Given the description of an element on the screen output the (x, y) to click on. 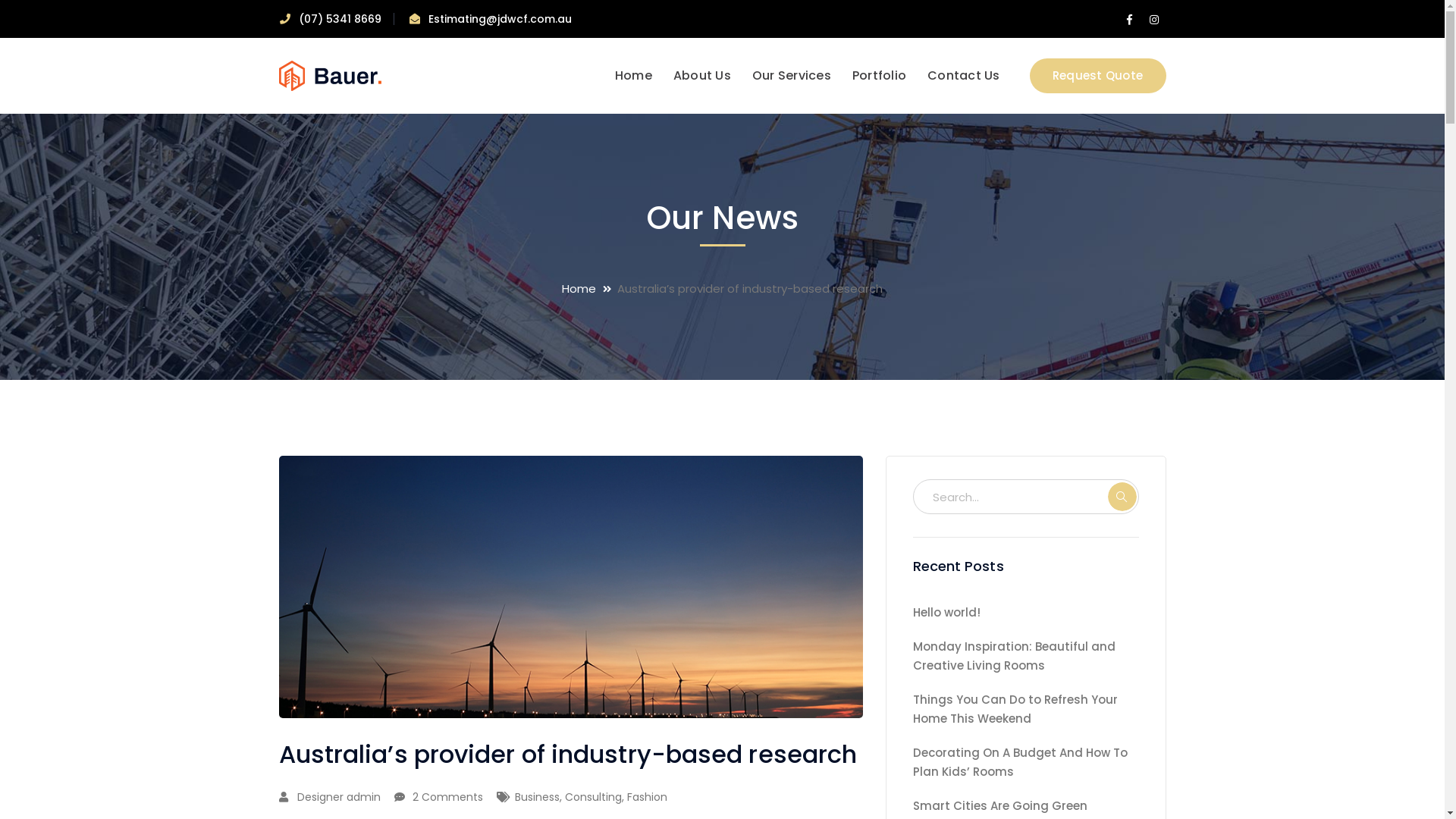
Fashion Element type: text (646, 796)
Search for: Element type: hover (1026, 496)
Hello world! Element type: text (946, 612)
Consulting Element type: text (592, 796)
Contact Us Element type: text (963, 75)
Home Element type: text (589, 288)
Our Services Element type: text (791, 75)
Designer admin Element type: text (338, 796)
Monday Inspiration: Beautiful and Creative Living Rooms Element type: text (1026, 655)
Request Quote Element type: text (1097, 75)
Home Element type: text (633, 75)
SEARCH Element type: text (1121, 496)
JDW Custom Fabrication Element type: hover (330, 74)
Portfolio Element type: text (879, 75)
Business Element type: text (536, 796)
Things You Can Do to Refresh Your Home This Weekend Element type: text (1026, 708)
Facebook Profile Element type: text (1129, 19)
2 Comments Element type: text (447, 796)
Instagram Profile Element type: text (1154, 19)
About Us Element type: text (702, 75)
